Given the description of an element on the screen output the (x, y) to click on. 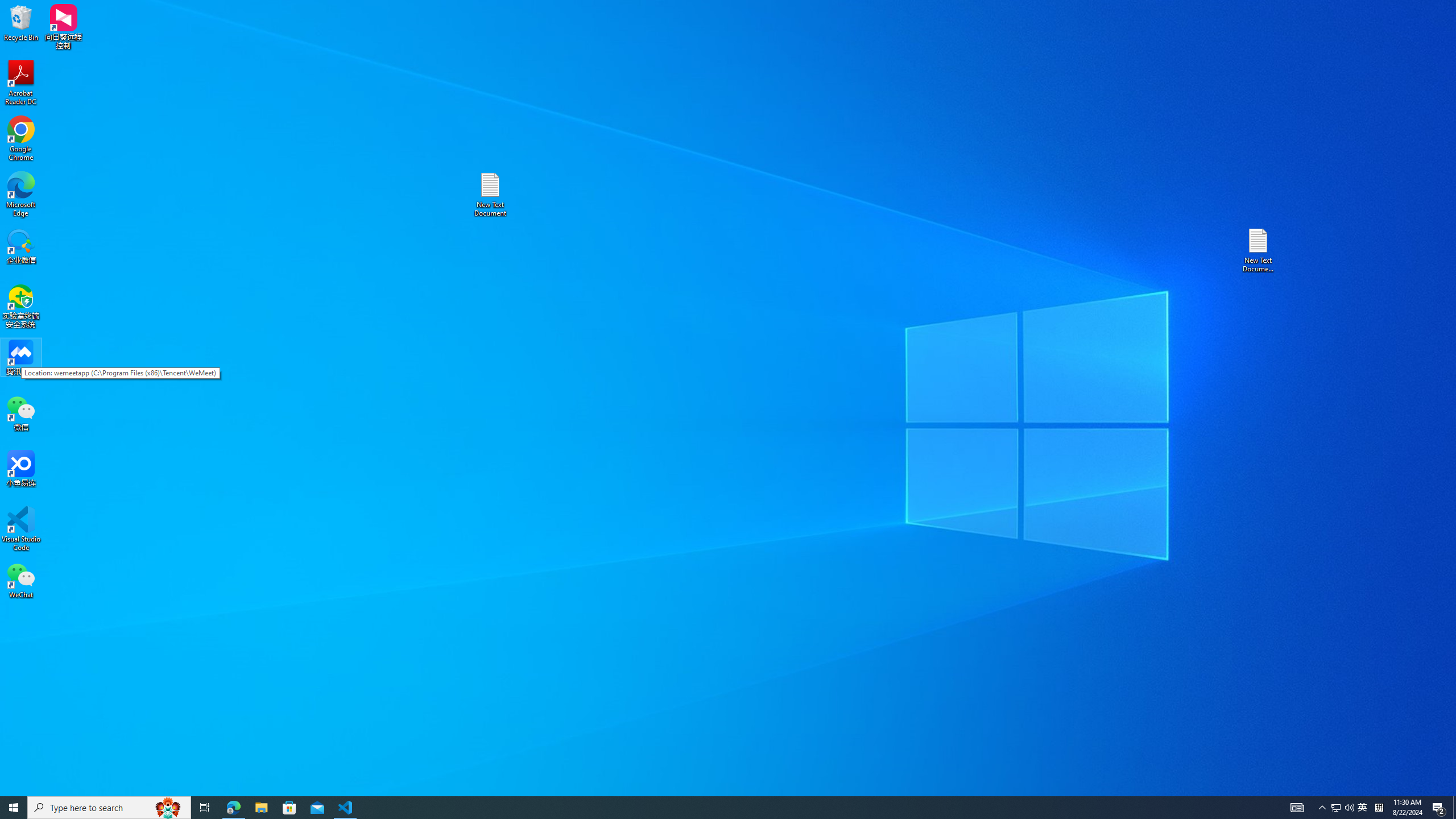
New Text Document (2) (1258, 250)
Recycle Bin (21, 22)
Google Chrome (21, 138)
